Given the description of an element on the screen output the (x, y) to click on. 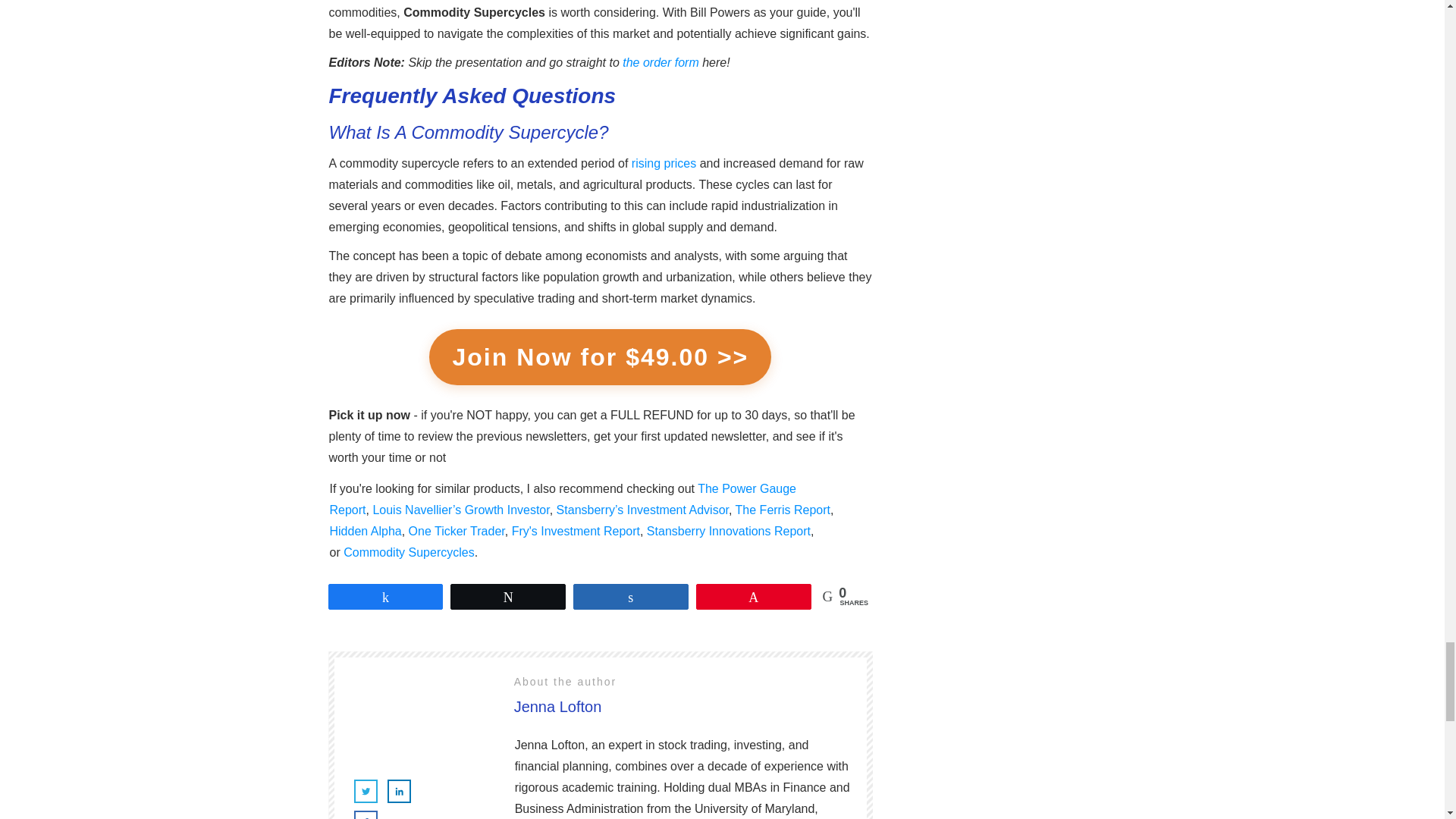
What Makes Stocks Go Up? (663, 163)
